Given the description of an element on the screen output the (x, y) to click on. 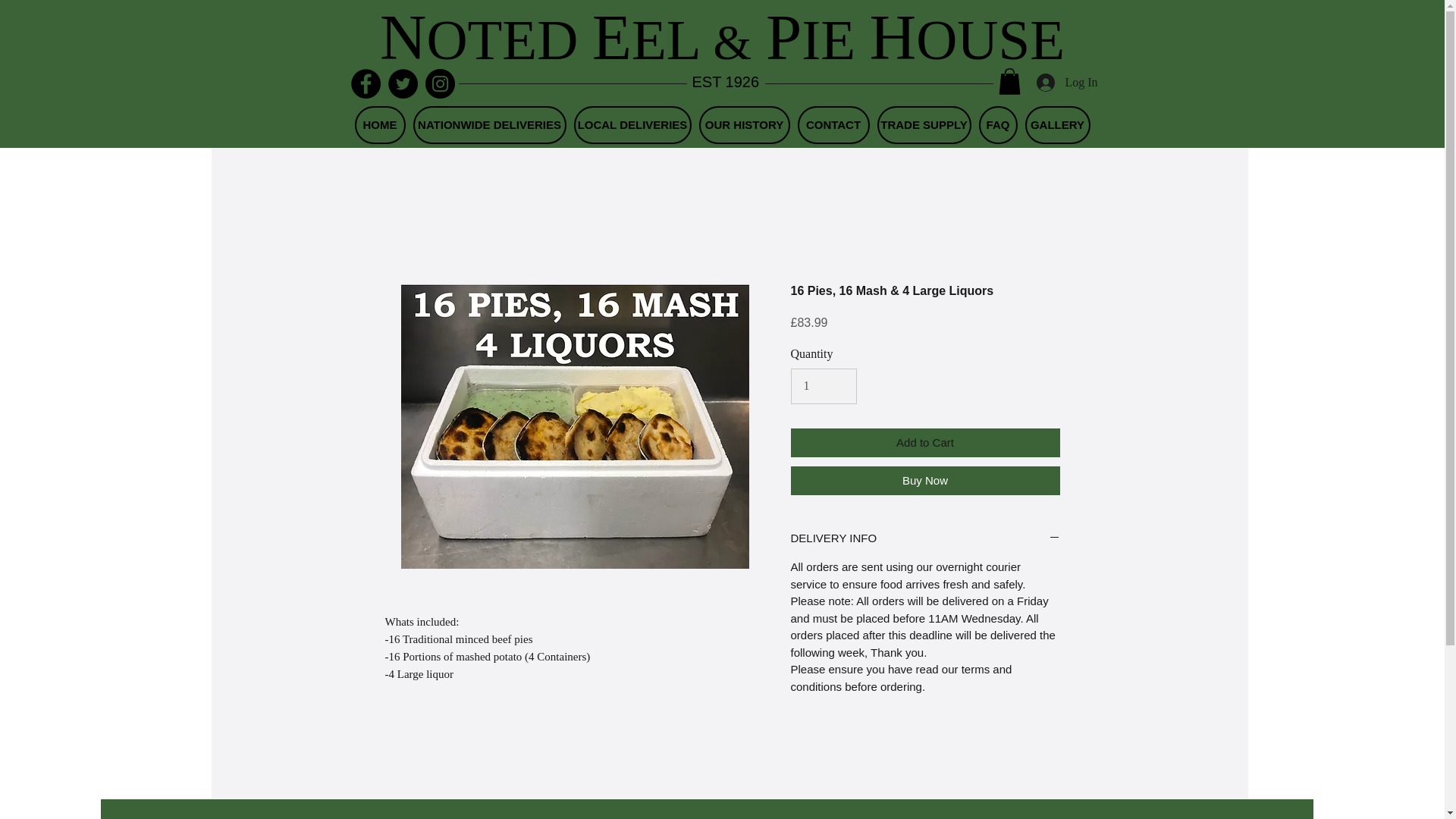
DELIVERY INFO (924, 538)
Log In (1058, 82)
NATIONWIDE DELIVERIES (489, 125)
LOCAL DELIVERIES (631, 125)
TRADE SUPPLY (923, 125)
GALLERY (1057, 125)
CONTACT (833, 125)
HOME (380, 125)
Add to Cart (924, 442)
Buy Now (924, 480)
FAQ (997, 125)
N (403, 36)
1 (823, 385)
OUR HISTORY (744, 125)
